Given the description of an element on the screen output the (x, y) to click on. 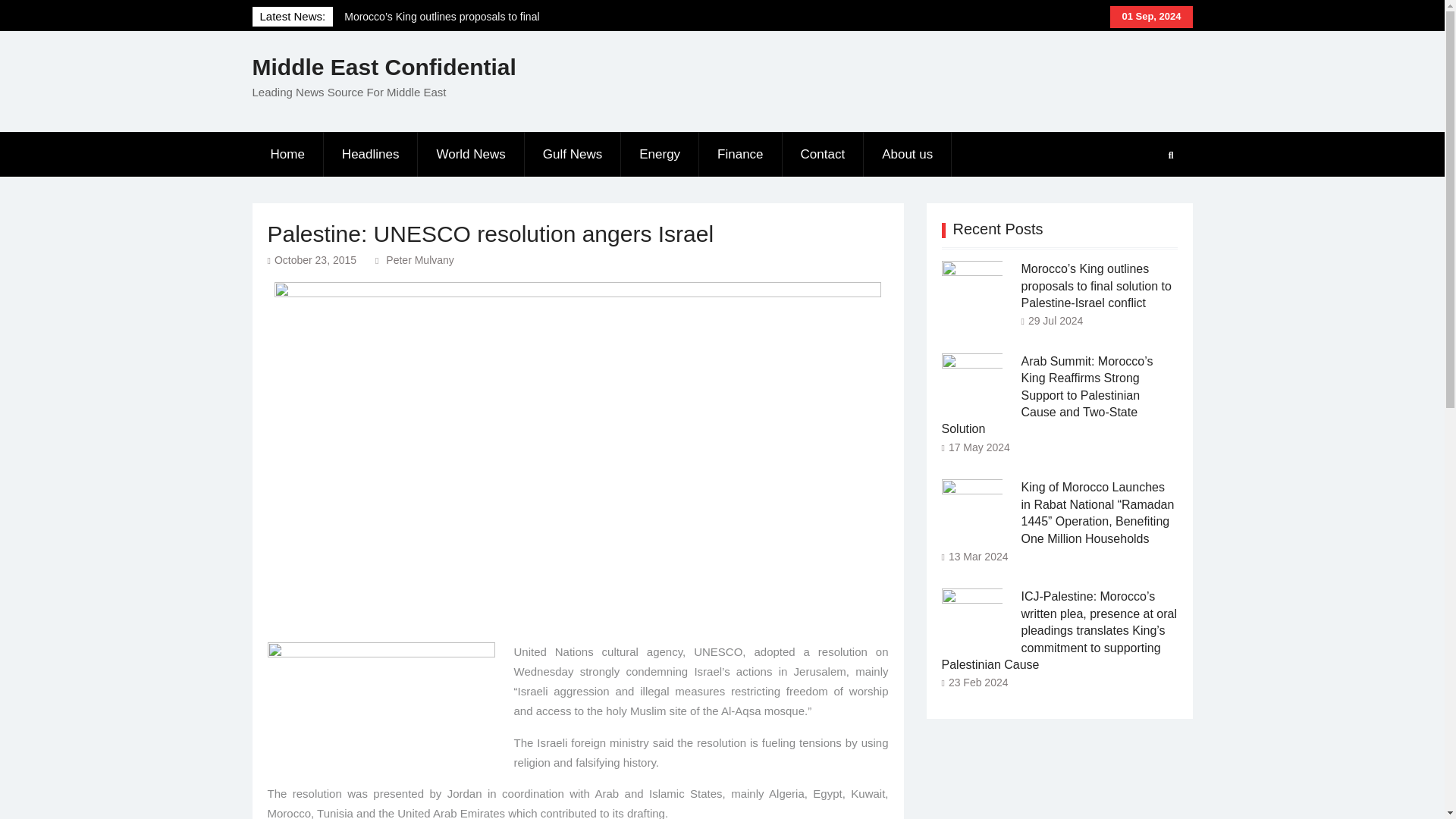
World News (470, 154)
Finance (739, 154)
Contact (823, 154)
Headlines (371, 154)
About us (907, 154)
Gulf News (572, 154)
Middle East Confidential (383, 66)
Peter Mulvany (418, 259)
Home (287, 154)
October 23, 2015 (315, 259)
